Given the description of an element on the screen output the (x, y) to click on. 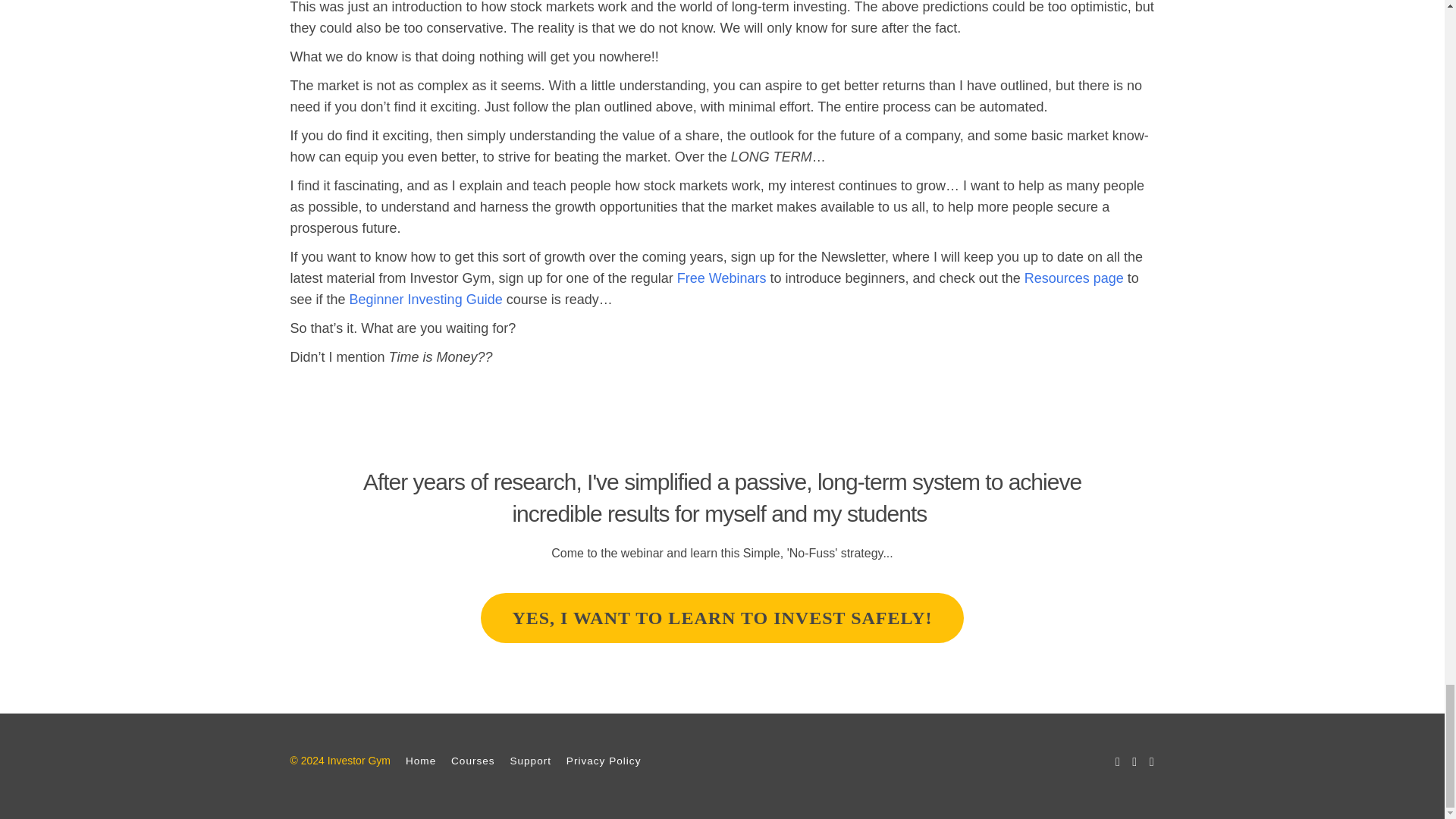
YES, I WANT TO LEARN TO INVEST SAFELY! (721, 617)
Beginner Investing Guide (425, 299)
Privacy Policy (604, 760)
Home (420, 760)
Free Webinars (722, 278)
Courses (473, 760)
Support (530, 760)
Resources page (1074, 278)
